Given the description of an element on the screen output the (x, y) to click on. 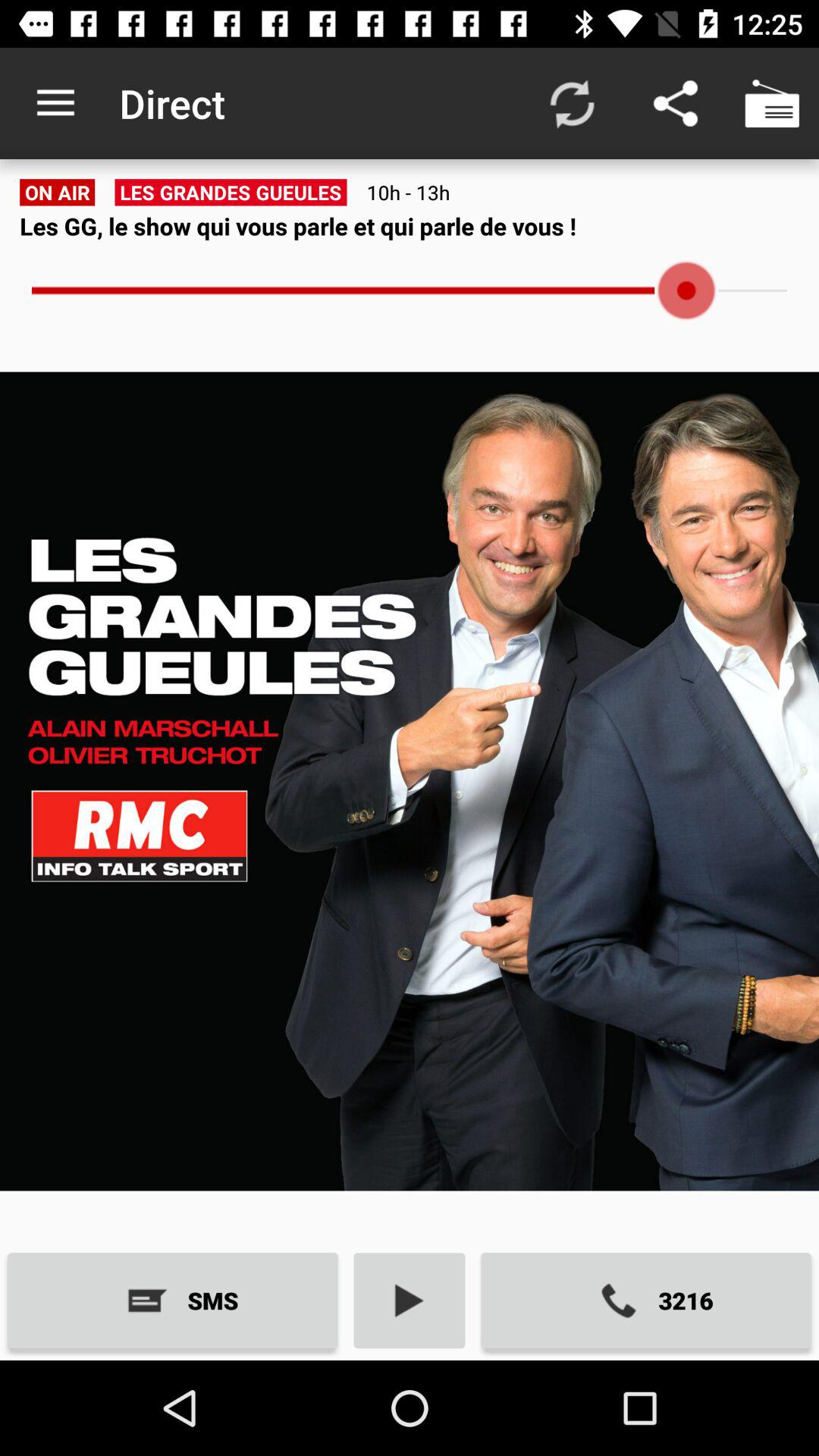
select the app to the right of the direct app (572, 103)
